Given the description of an element on the screen output the (x, y) to click on. 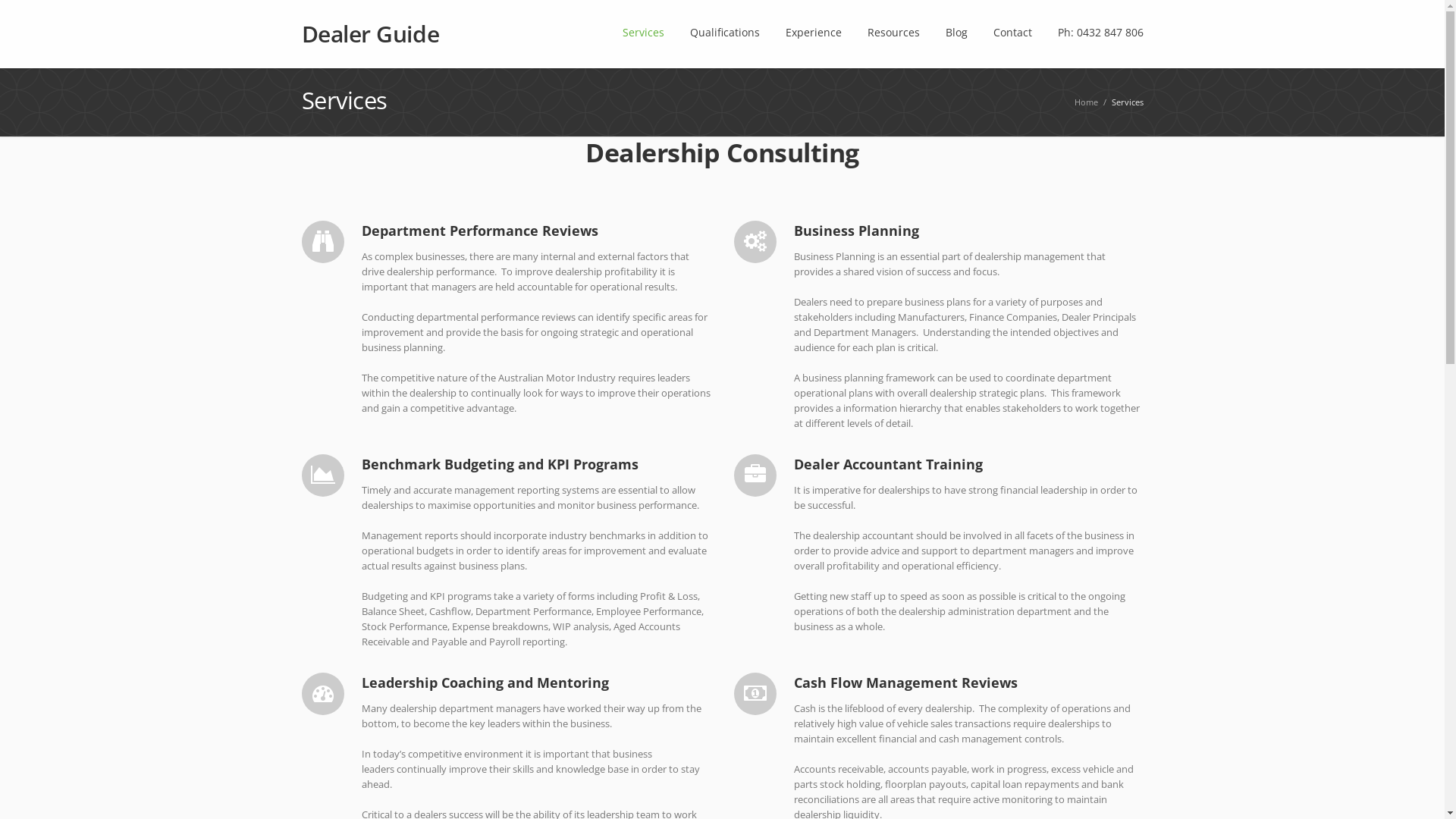
Resources Element type: text (893, 34)
Qualifications Element type: text (724, 34)
Services Element type: text (642, 34)
Blog Element type: text (955, 34)
Ph: 0432 847 806 Element type: text (1099, 34)
Home Element type: text (1085, 101)
Dealer Guide Element type: text (370, 33)
Experience Element type: text (813, 34)
Contact Element type: text (1012, 34)
